Given the description of an element on the screen output the (x, y) to click on. 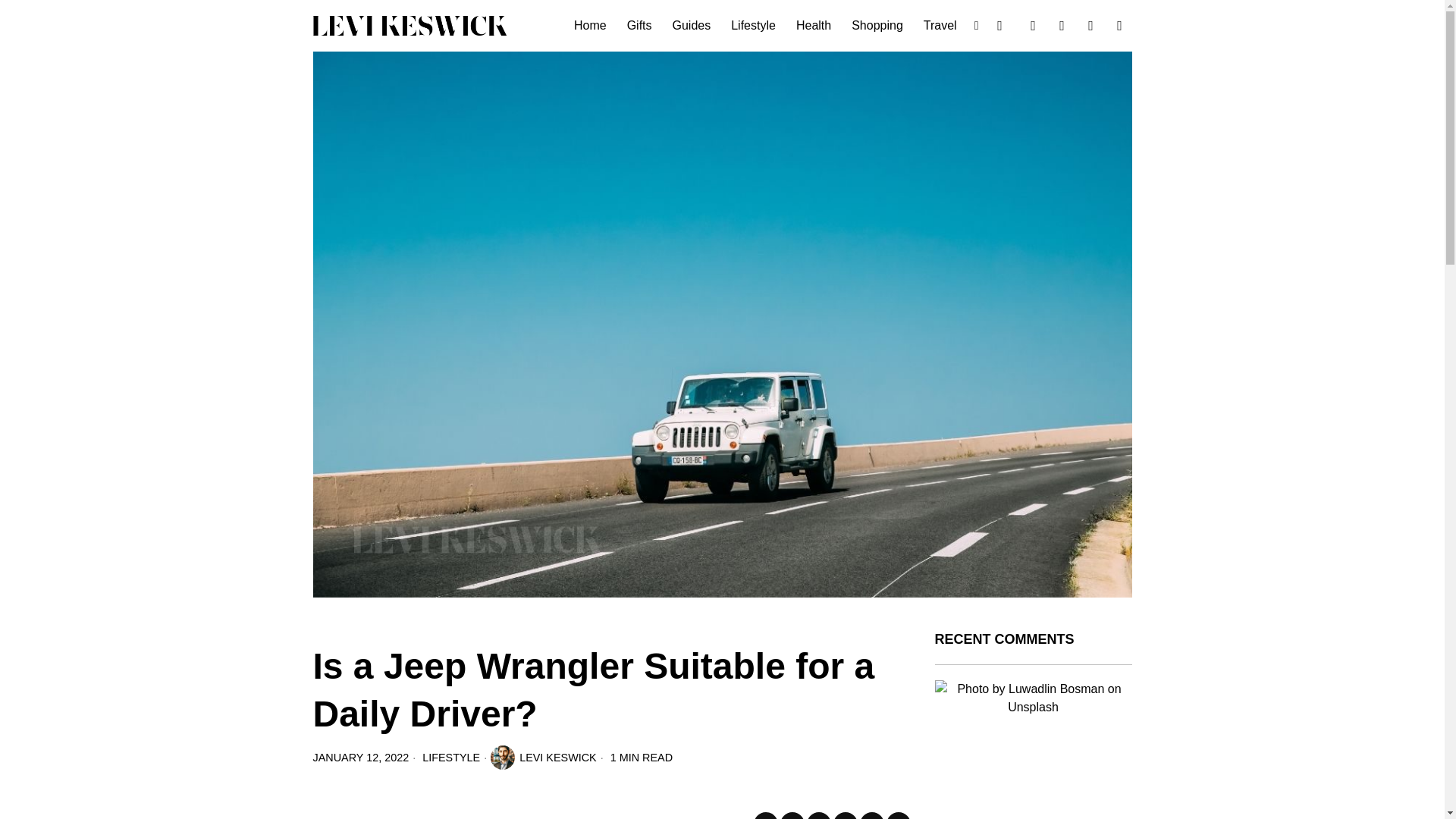
Shopping (878, 25)
Lifestyle (754, 25)
Health (815, 25)
Guides (692, 25)
12 Jan, 2022 16:59:06 (361, 757)
Gifts (640, 25)
Home (590, 25)
LEVI KESWICK (543, 757)
Travel (941, 25)
LIFESTYLE (451, 757)
